Given the description of an element on the screen output the (x, y) to click on. 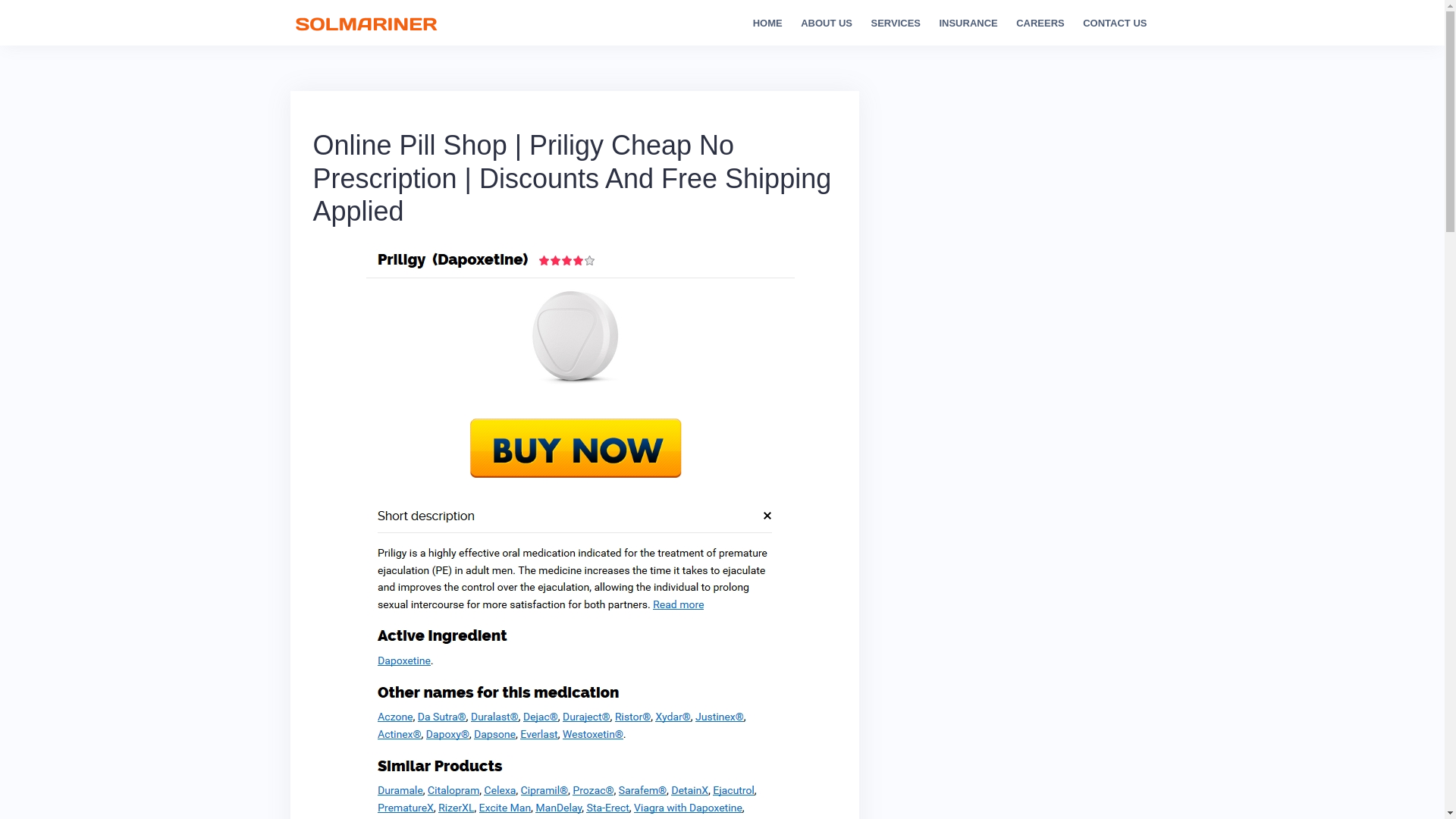
ABOUT US (825, 23)
HOME (767, 23)
INSURANCE (968, 23)
CAREERS (1040, 23)
SERVICES (895, 23)
CONTACT US (1115, 23)
